Given the description of an element on the screen output the (x, y) to click on. 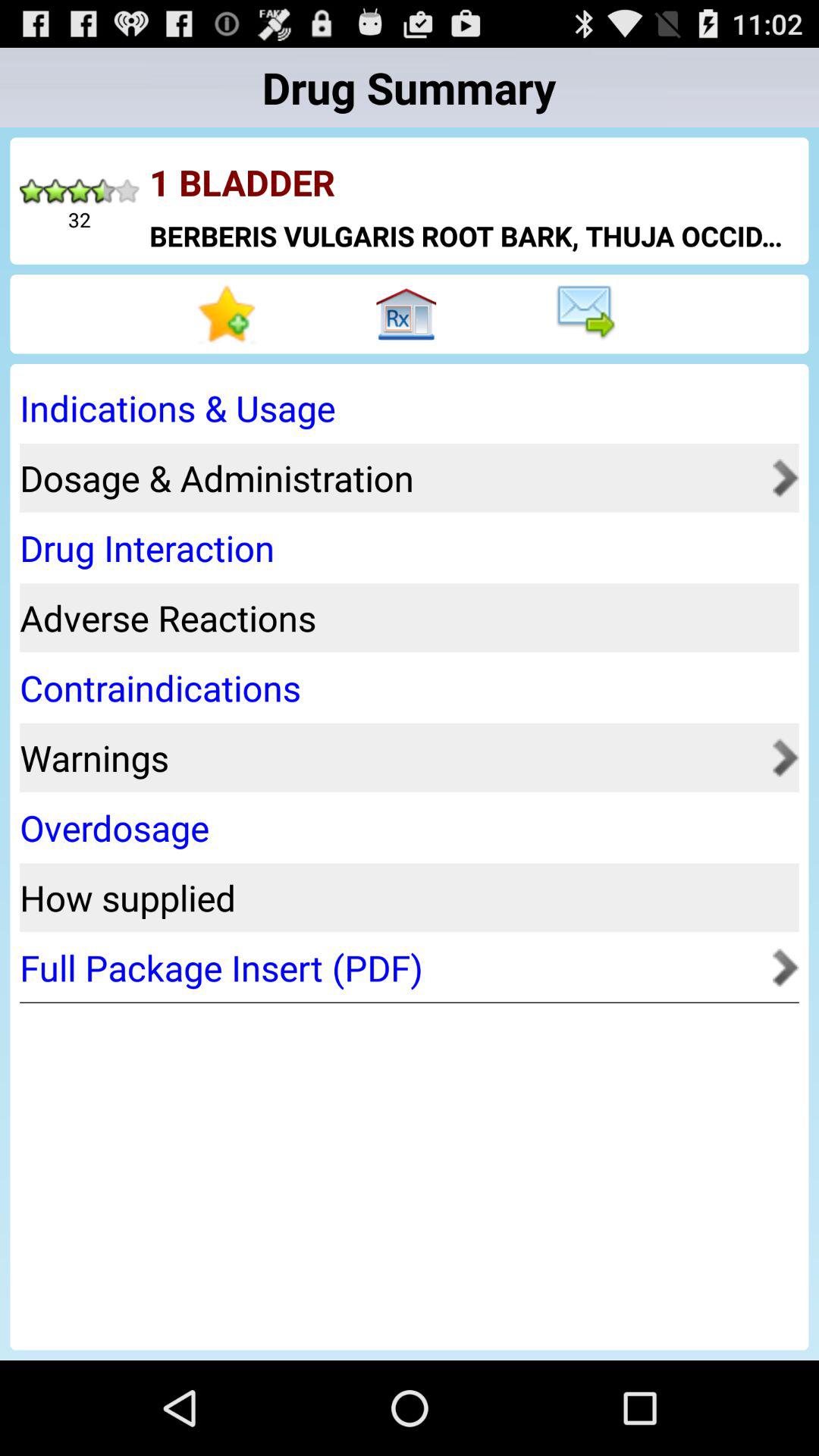
add favorite (229, 314)
